Given the description of an element on the screen output the (x, y) to click on. 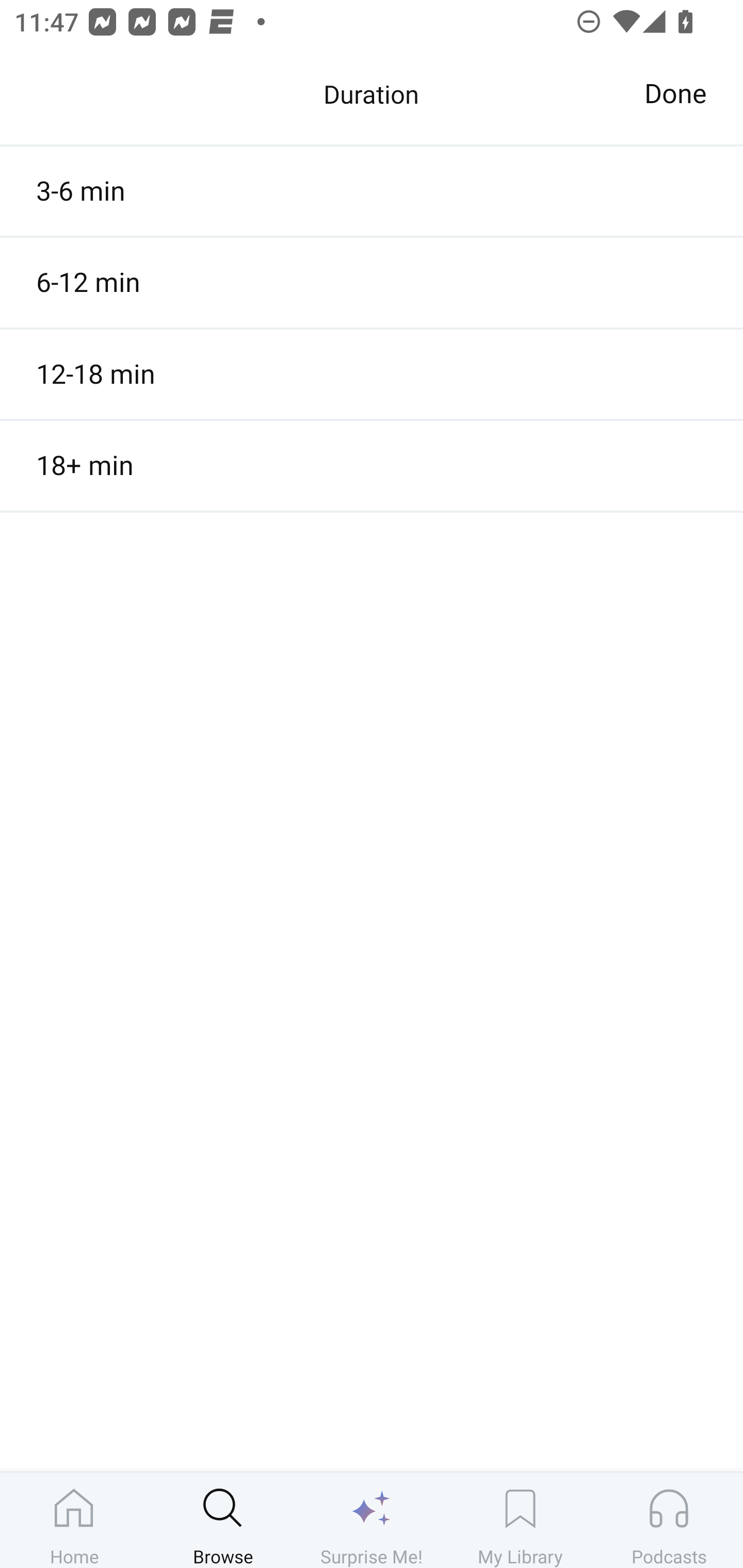
Search (395, 100)
Done (675, 93)
3-6 min (371, 190)
6-12 min (371, 282)
12-18 min (371, 373)
18+ min (371, 465)
Home (74, 1520)
Browse (222, 1520)
Surprise Me! (371, 1520)
My Library (519, 1520)
Podcasts (668, 1520)
